Given the description of an element on the screen output the (x, y) to click on. 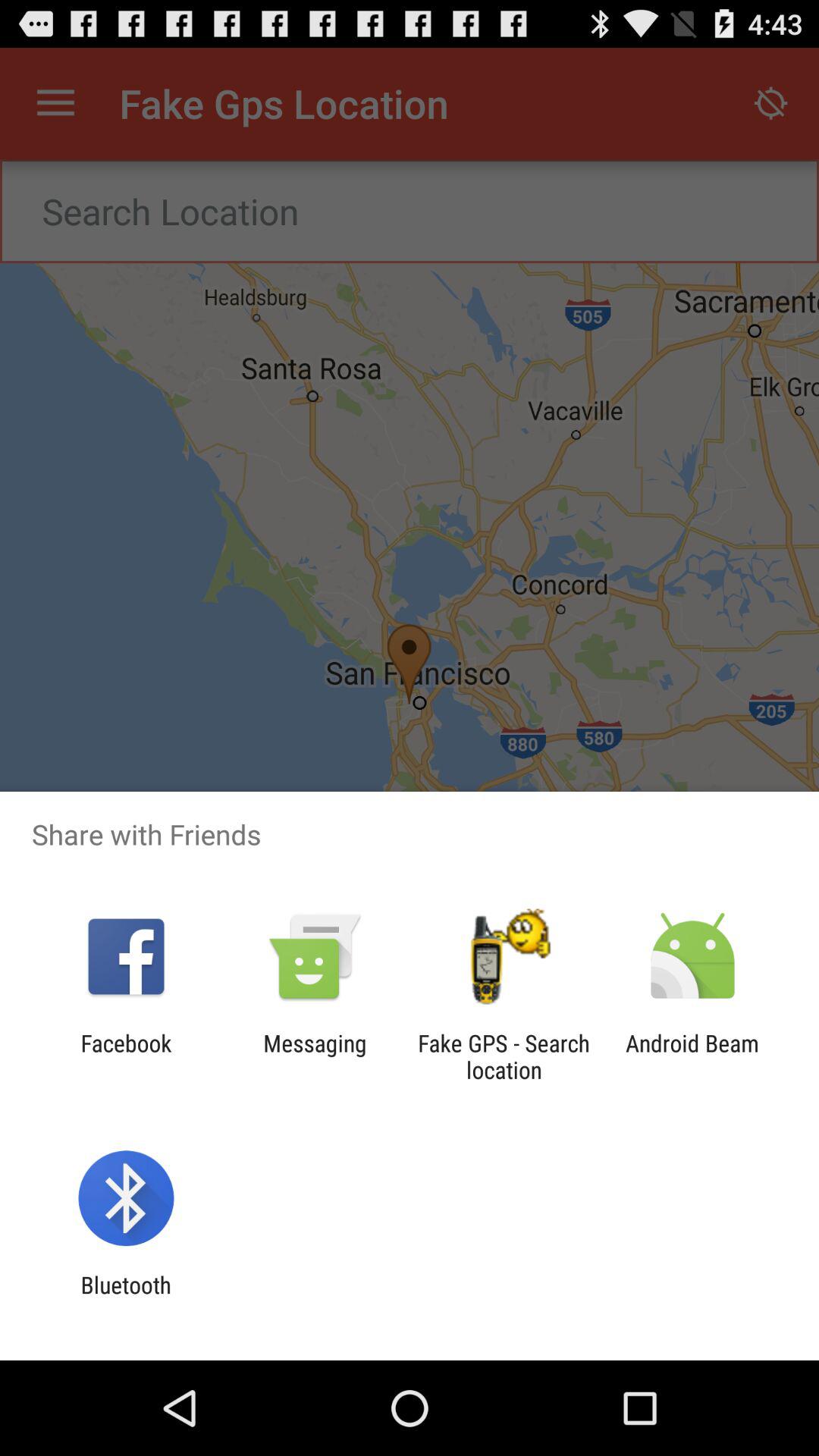
tap the facebook (125, 1056)
